Given the description of an element on the screen output the (x, y) to click on. 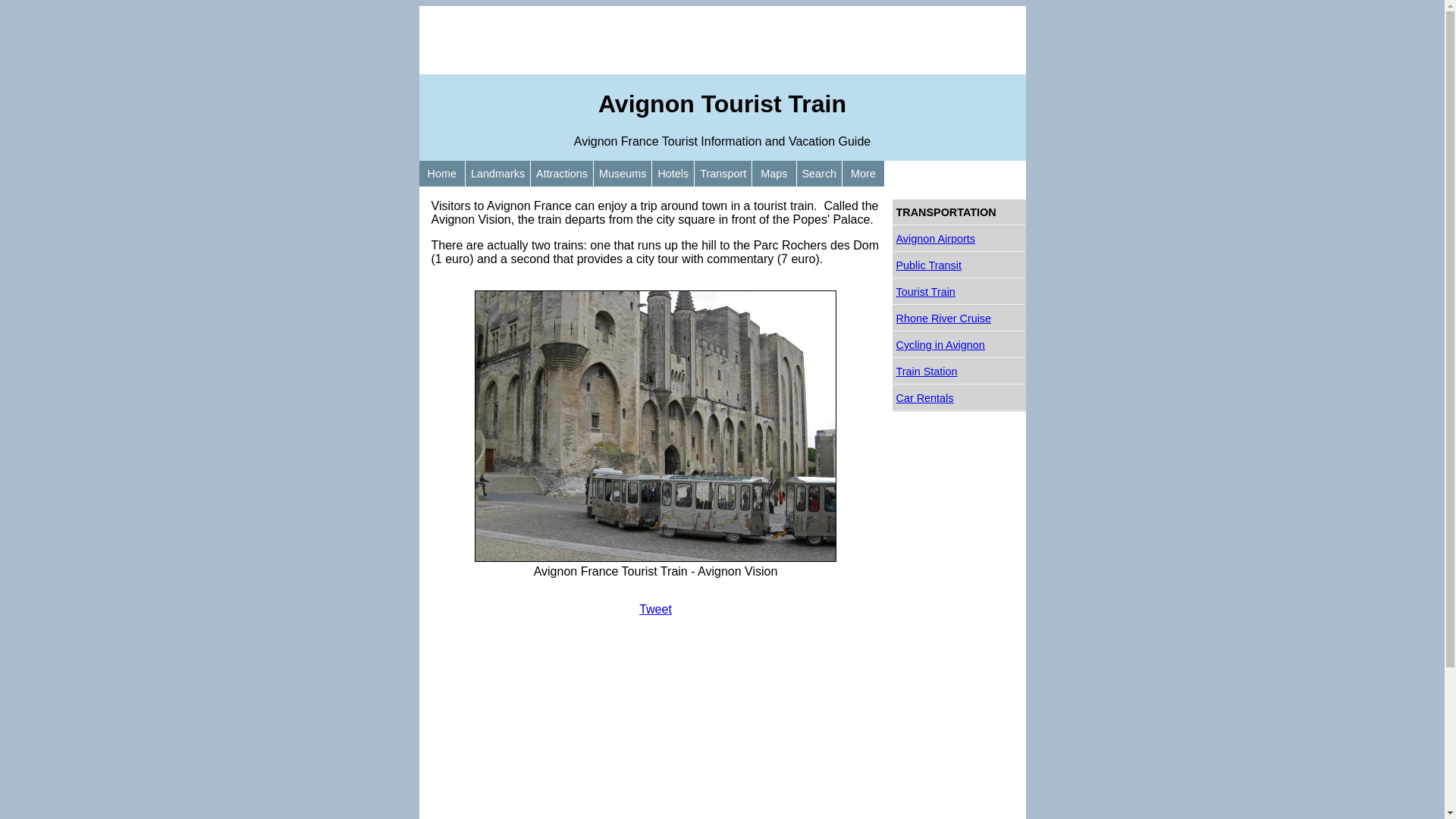
Museums Element type: text (622, 173)
Tourist Train Element type: text (959, 291)
 Home  Element type: text (441, 173)
Attractions Element type: text (561, 173)
Rhone River Cruise Element type: text (959, 318)
TRANSPORTATION Element type: text (959, 212)
Cycling in Avignon Element type: text (959, 344)
 More  Element type: text (863, 173)
Advertisement Element type: hover (721, 40)
Landmarks Element type: text (497, 173)
Train Station Element type: text (959, 371)
Search Element type: text (818, 173)
 Maps  Element type: text (773, 173)
Avignon Airports Element type: text (959, 238)
Car Rentals Element type: text (959, 398)
Transport Element type: text (722, 173)
Hotels Element type: text (672, 173)
Public Transit Element type: text (959, 265)
Tweet Element type: text (655, 608)
